Given the description of an element on the screen output the (x, y) to click on. 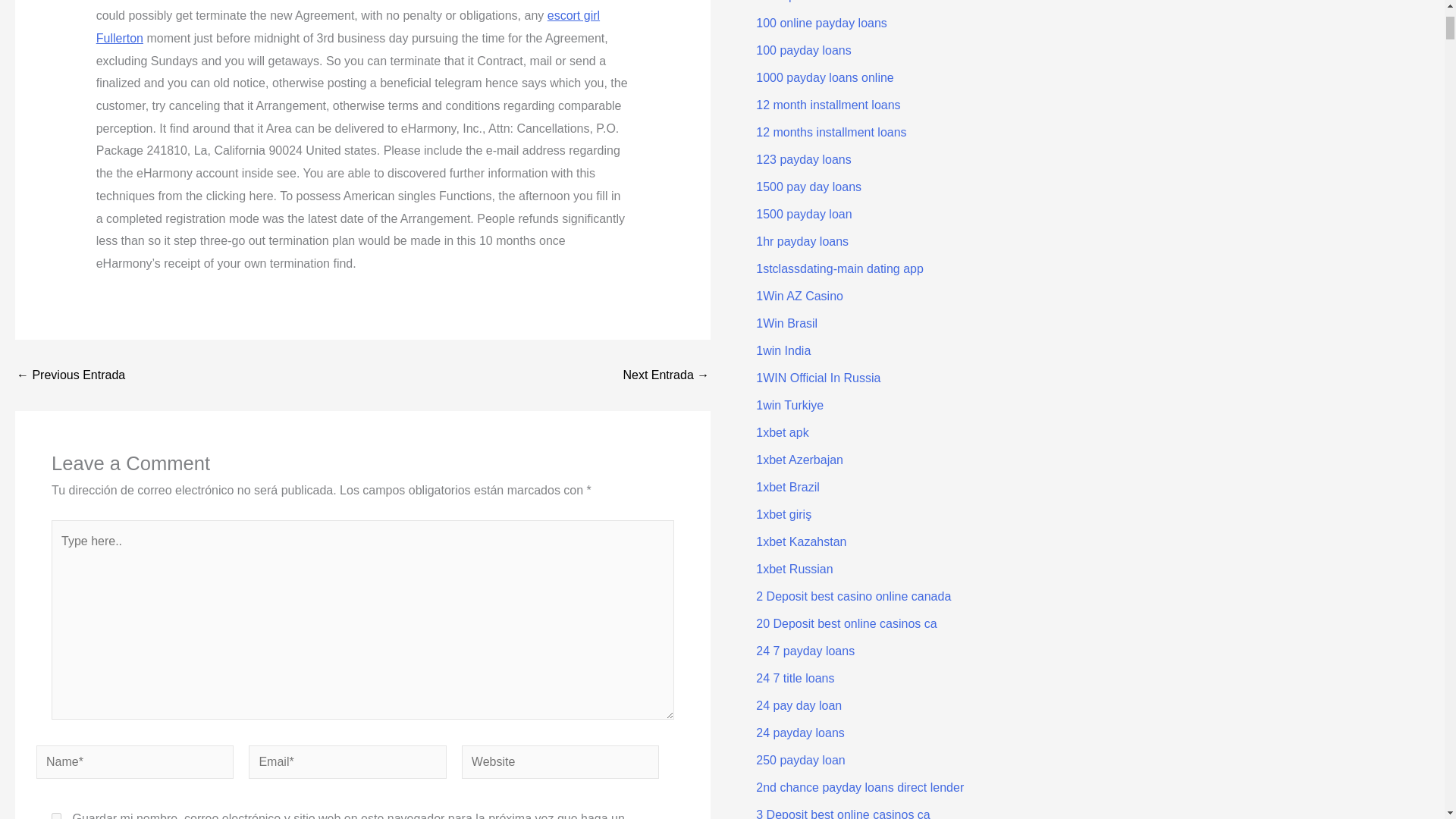
yes (55, 816)
escort girl Fullerton (347, 27)
Greatest payday advances in eugene oregon (70, 375)
